Given the description of an element on the screen output the (x, y) to click on. 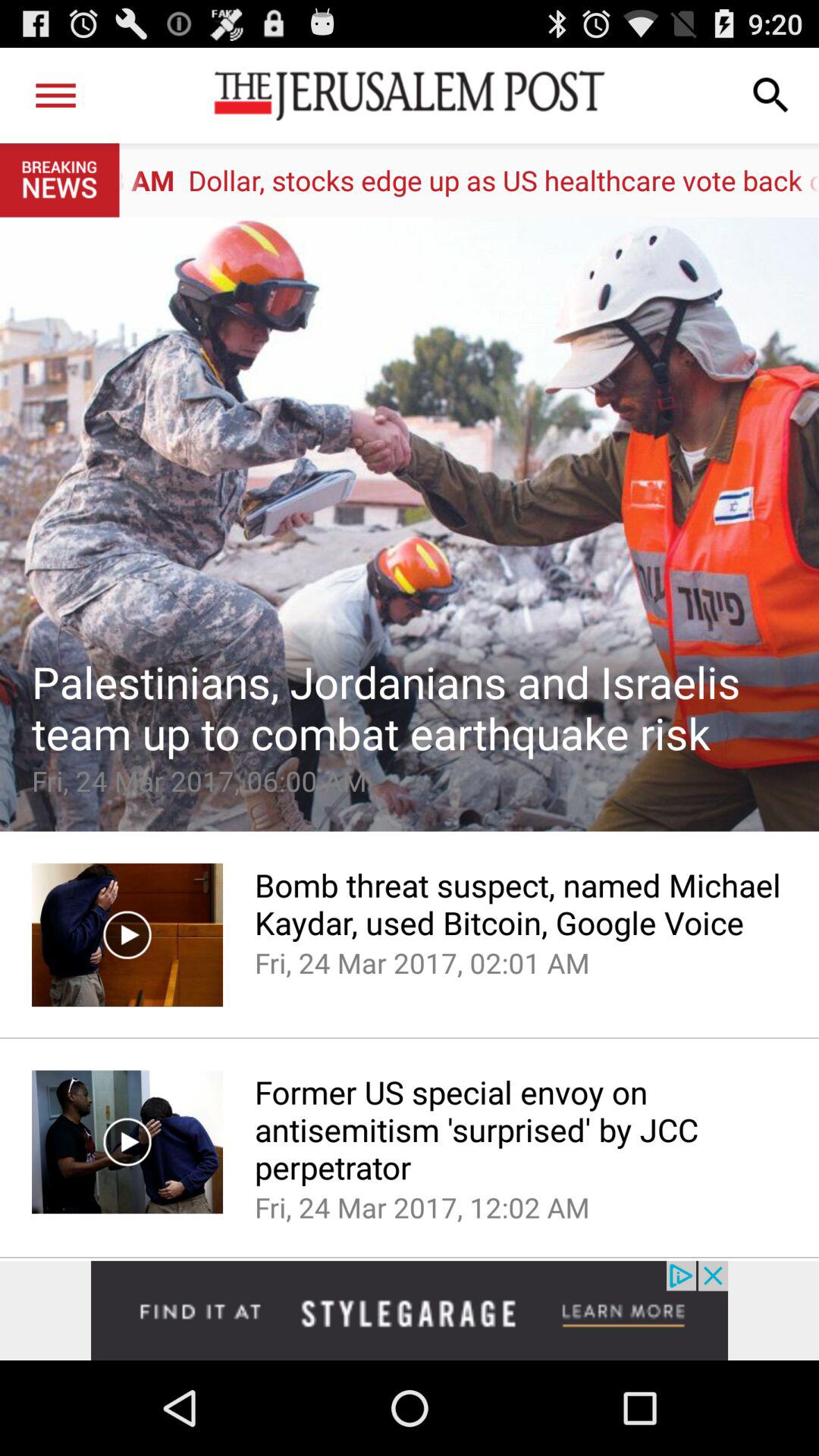
open search (771, 95)
